Given the description of an element on the screen output the (x, y) to click on. 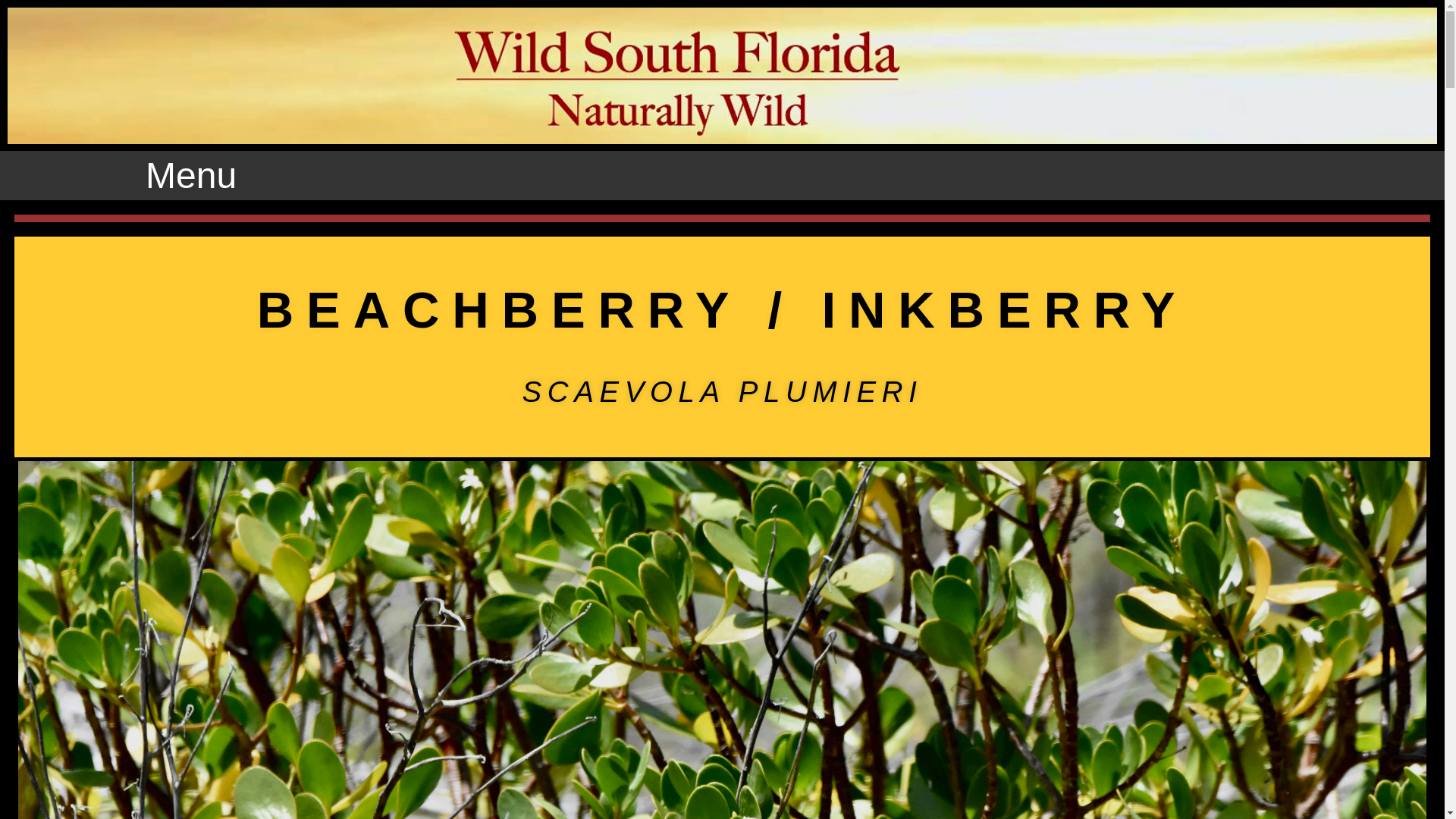
Menu (190, 174)
